Given the description of an element on the screen output the (x, y) to click on. 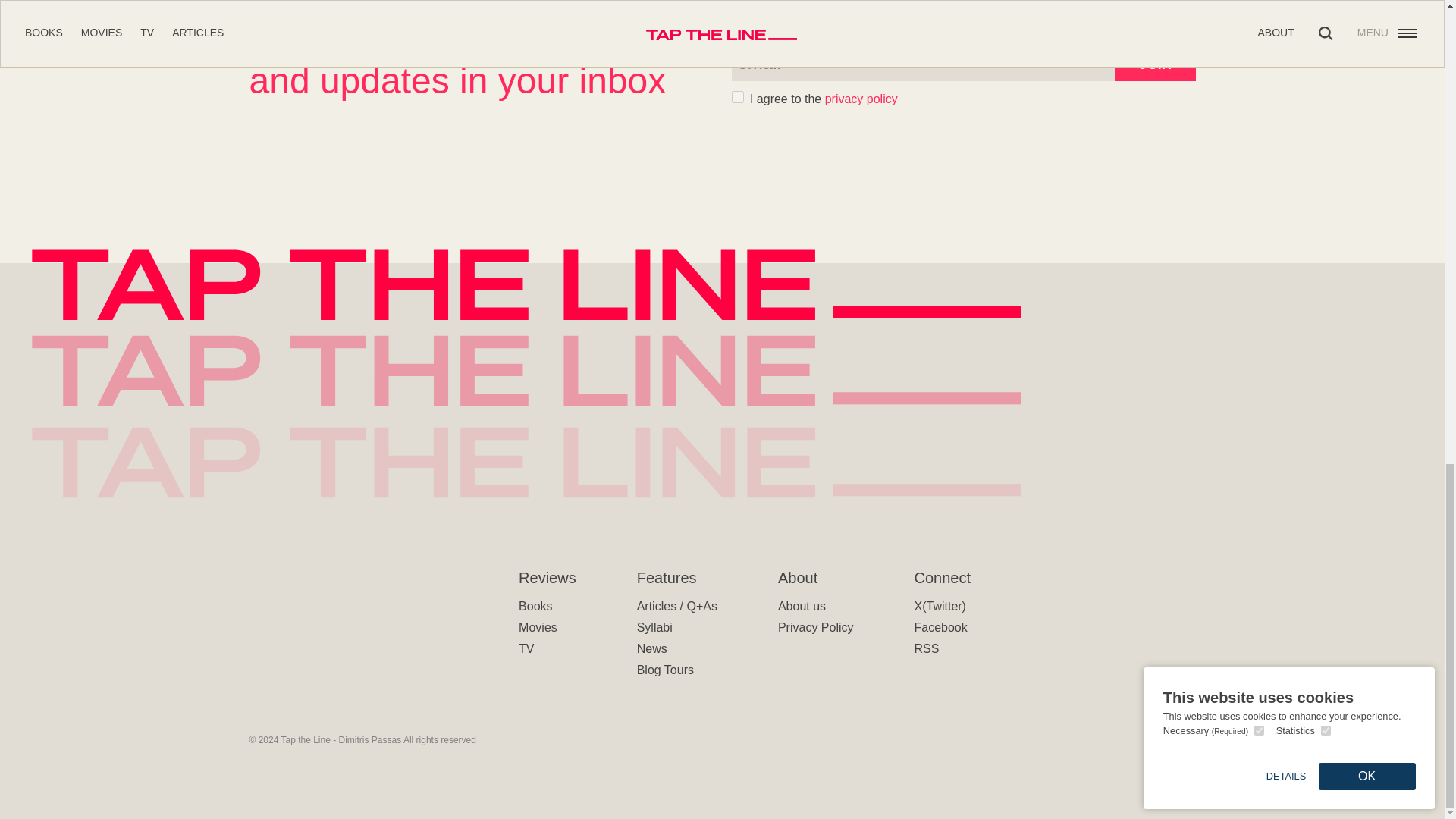
Syllabi (654, 626)
privacy policy (861, 98)
TV (526, 648)
Join (1155, 63)
News (651, 648)
Join (1155, 63)
Books (534, 605)
Movies (537, 626)
on (736, 96)
